Given the description of an element on the screen output the (x, y) to click on. 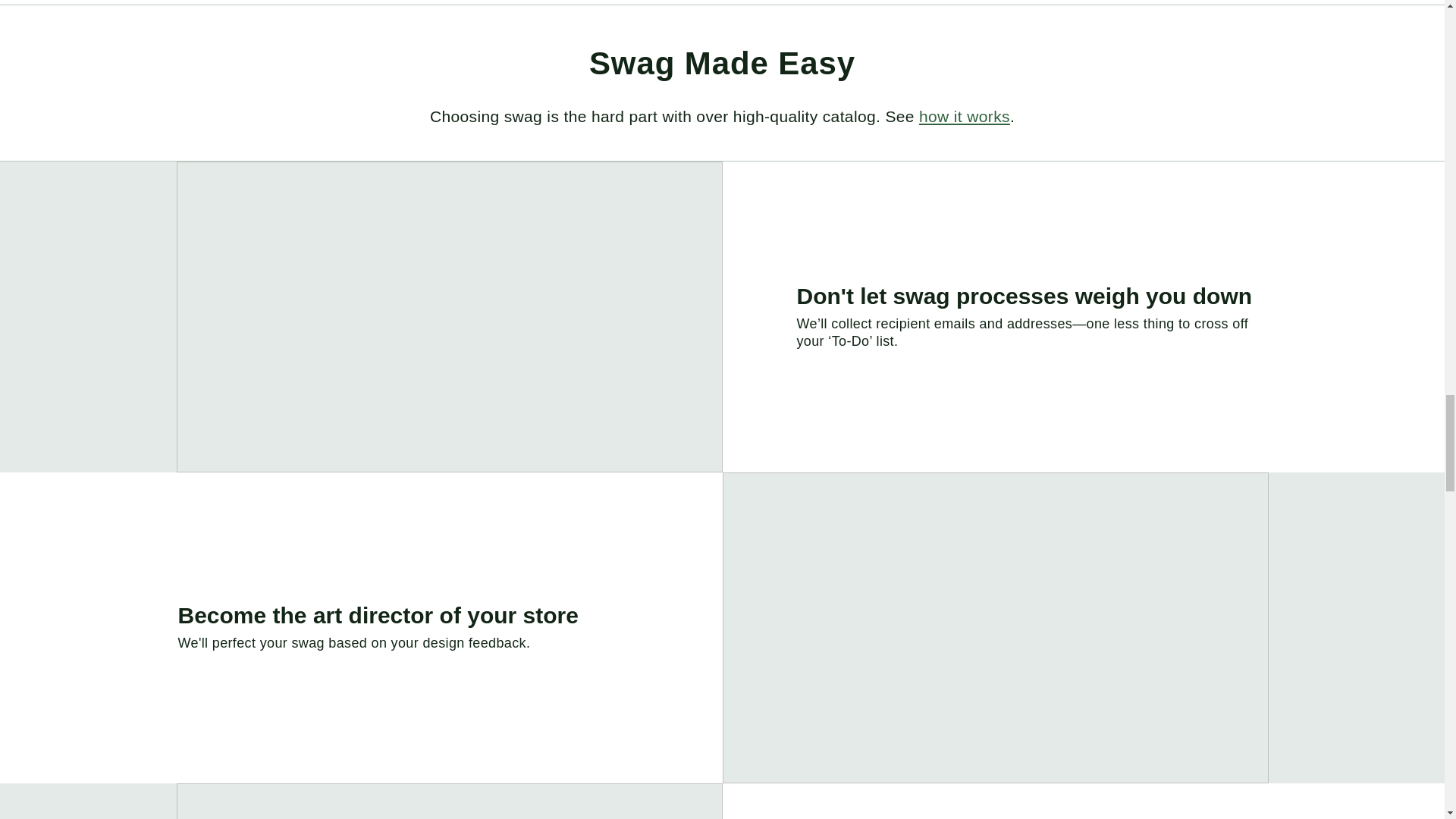
how it works (964, 116)
